Given the description of an element on the screen output the (x, y) to click on. 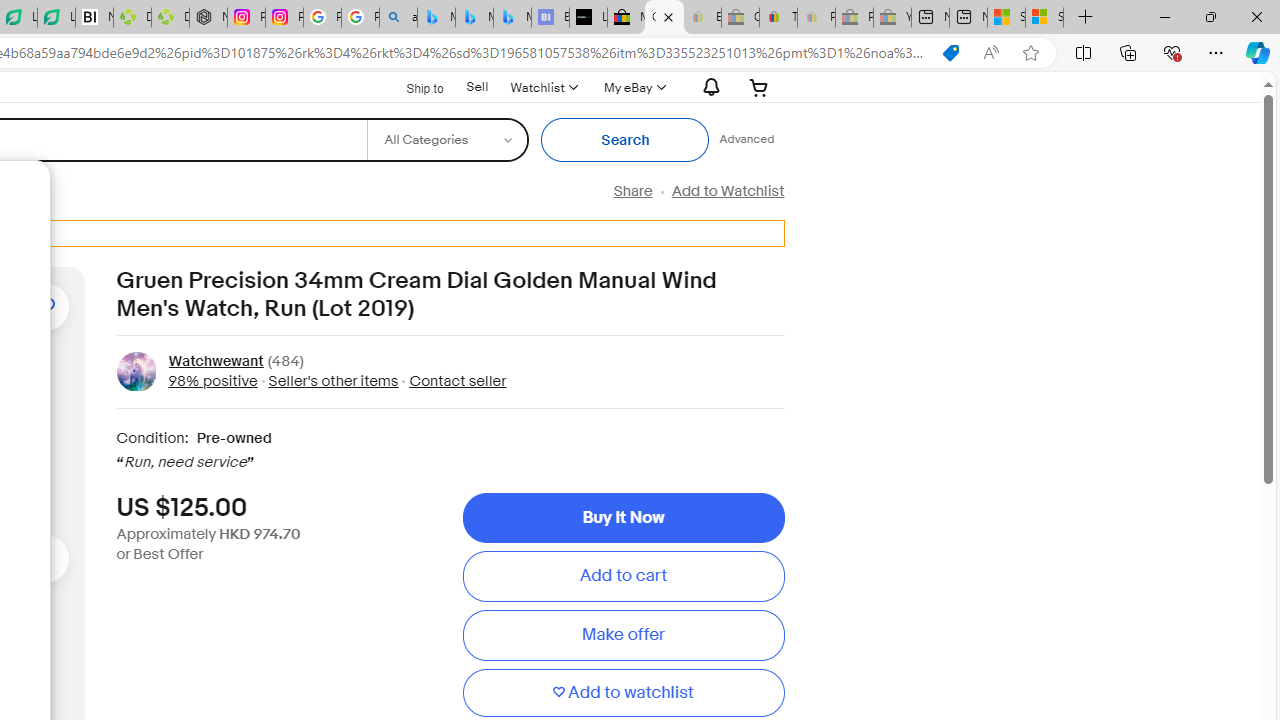
My eBayExpand My eBay (632, 87)
  Seller's other items (328, 380)
Expand Cart (759, 87)
Microsoft Bing Travel - Flights from Hong Kong to Bangkok (436, 17)
My eBay (632, 87)
